Given the description of an element on the screen output the (x, y) to click on. 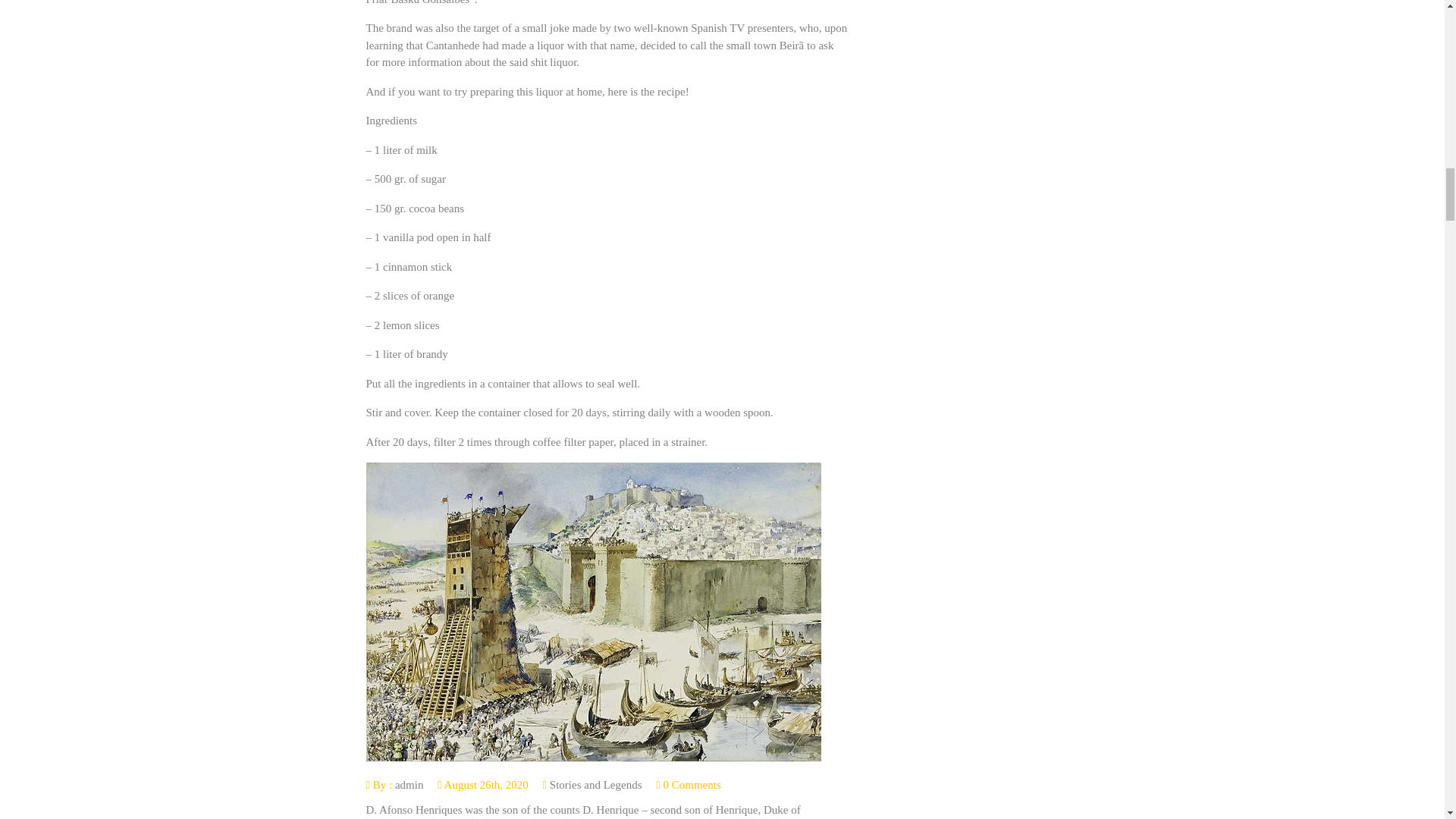
Stories and Legends (596, 784)
Posts by admin (408, 784)
admin (408, 784)
